Given the description of an element on the screen output the (x, y) to click on. 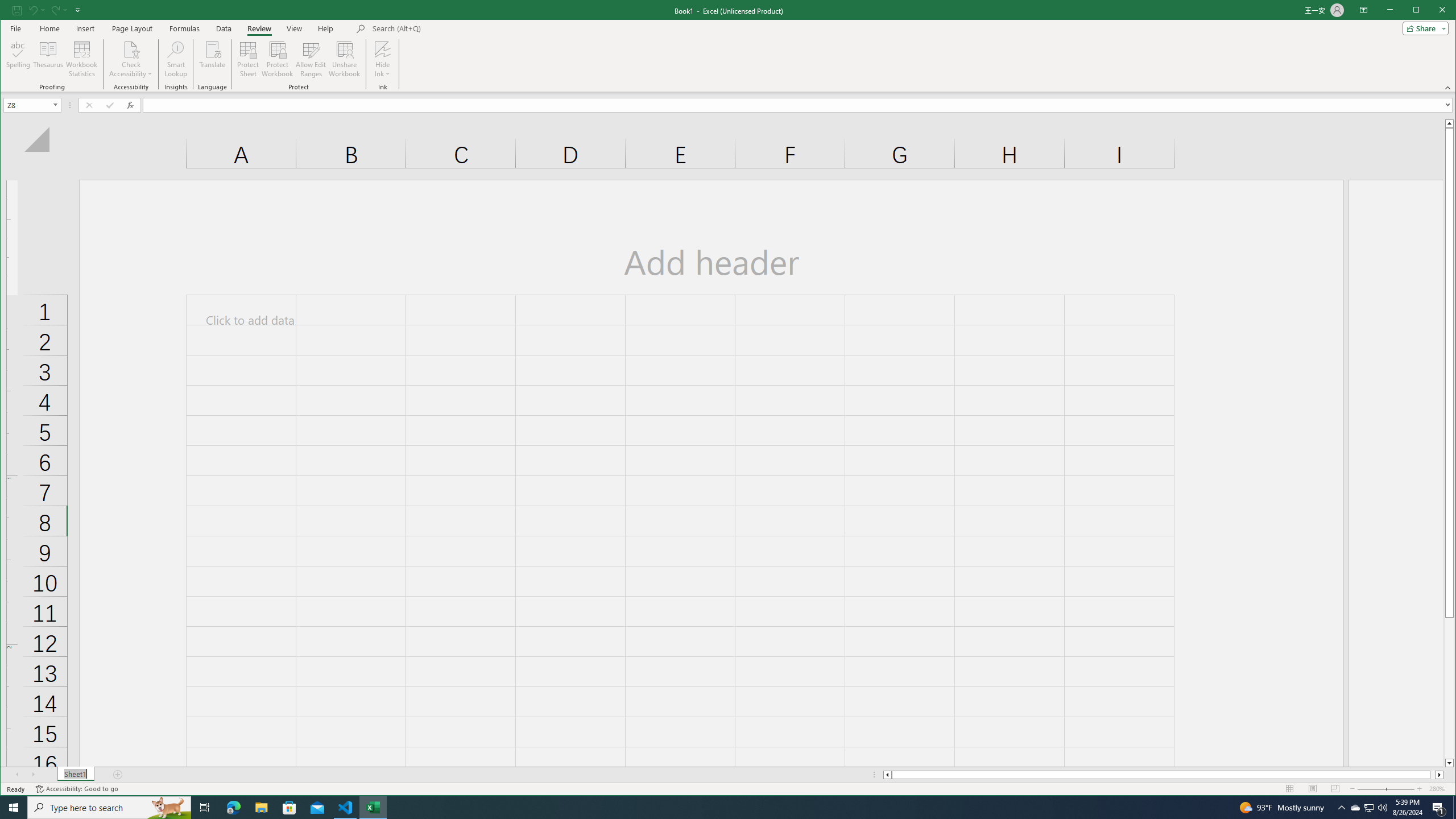
File Explorer (261, 807)
User Promoted Notification Area (1368, 807)
Unshare Workbook (344, 59)
Allow Edit Ranges (310, 59)
Type here to search (1368, 807)
